Given the description of an element on the screen output the (x, y) to click on. 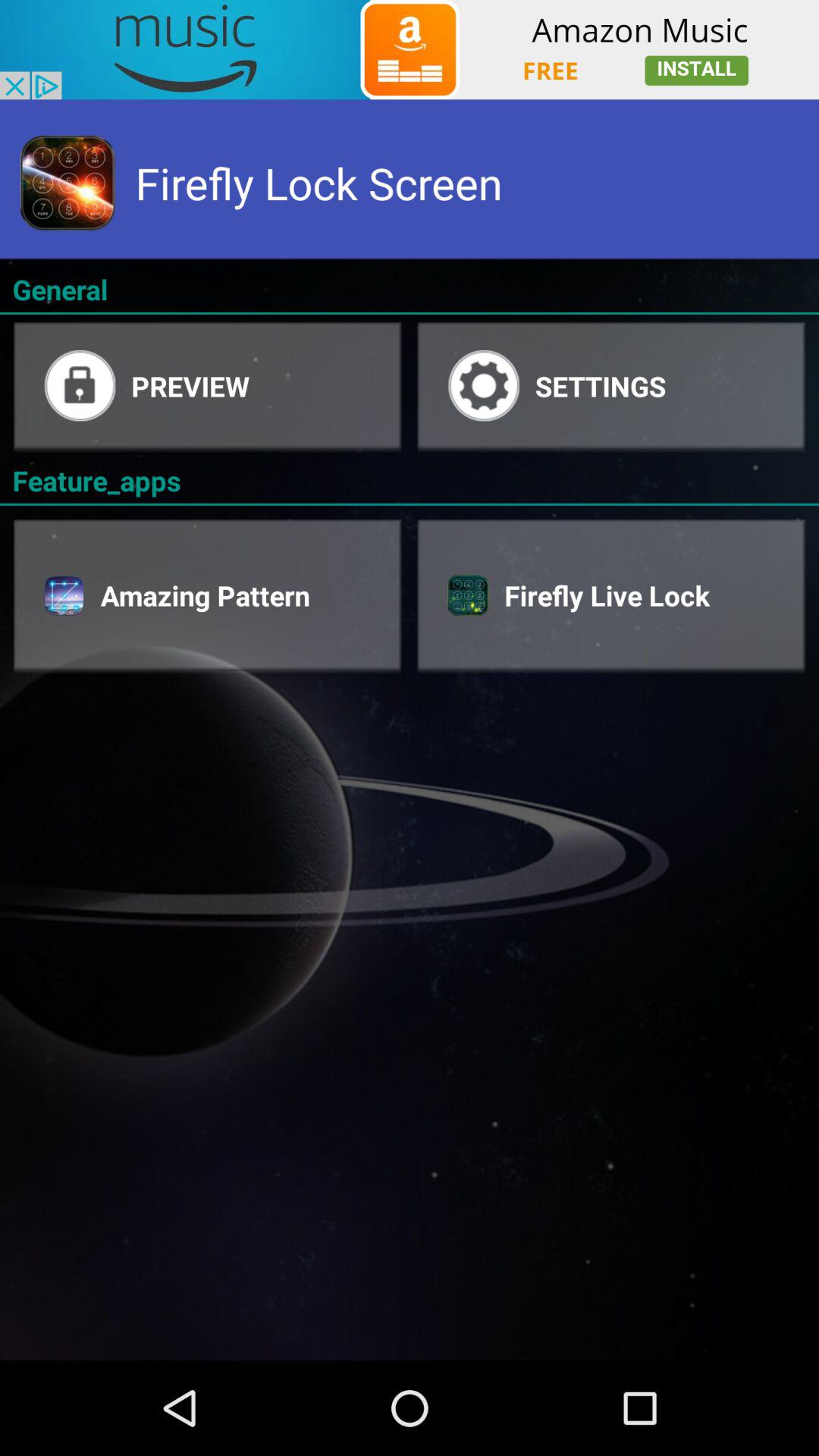
showing advertisements (409, 49)
